Given the description of an element on the screen output the (x, y) to click on. 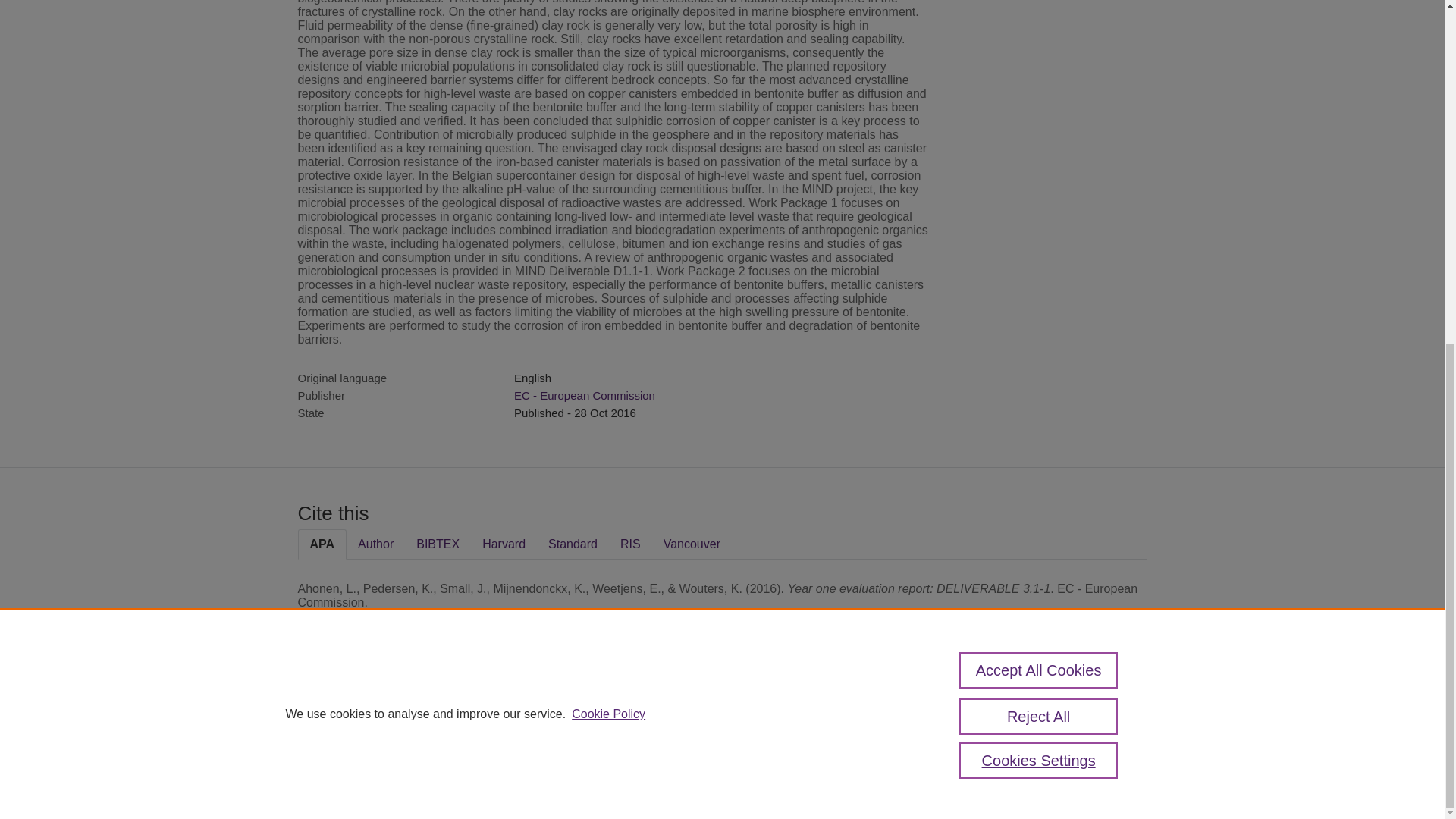
About web accessibility (1020, 713)
Cookies Settings (334, 781)
Contact us (1122, 713)
use of cookies (796, 760)
Cookie Policy (608, 128)
EC - European Commission (584, 395)
Accept All Cookies (1038, 84)
Elsevier B.V. (506, 728)
Scopus (394, 708)
Reject All (1038, 131)
Pure (362, 708)
Cookies Settings (1038, 175)
Report vulnerability (1020, 745)
